Given the description of an element on the screen output the (x, y) to click on. 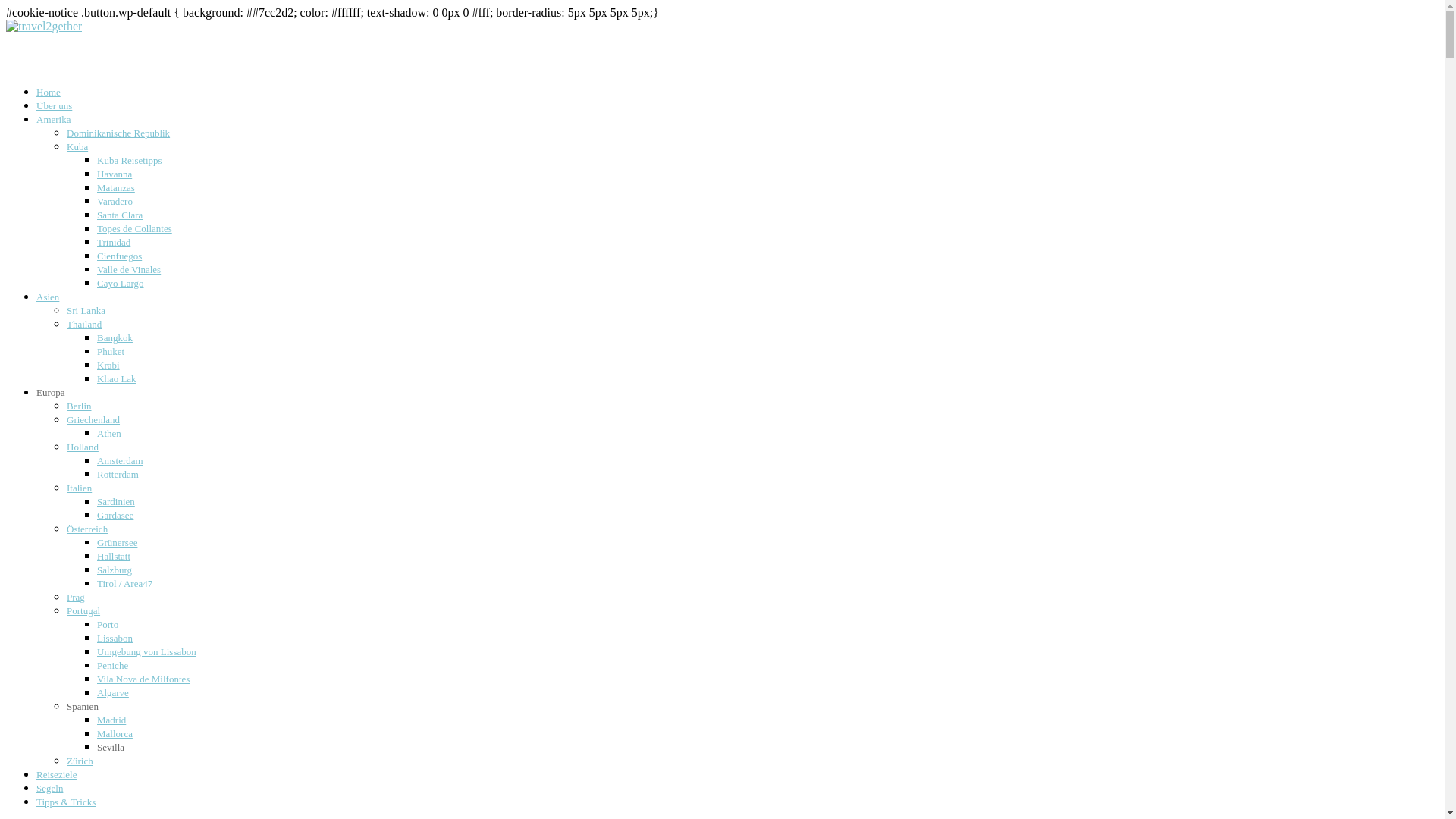
Matanzas Element type: text (115, 187)
Peniche Element type: text (112, 665)
Porto Element type: text (107, 624)
Salzburg Element type: text (114, 569)
Thailand Element type: text (83, 323)
Hallstatt Element type: text (113, 555)
Kuba Element type: text (76, 146)
Griechenland Element type: text (92, 419)
Vila Nova de Milfontes Element type: text (143, 678)
Rotterdam Element type: text (117, 474)
Phuket Element type: text (110, 351)
Trinidad Element type: text (113, 241)
Spanien Element type: text (82, 706)
Gardasee Element type: text (115, 514)
Holland Element type: text (82, 446)
Algarve Element type: text (112, 692)
Berlin Element type: text (78, 405)
Madrid Element type: text (111, 719)
Mallorca Element type: text (114, 733)
Home Element type: text (48, 96)
Dominikanische Republik Element type: text (117, 132)
Amerika Element type: text (53, 123)
Valle de Vinales Element type: text (128, 269)
Italien Element type: text (78, 487)
Asien Element type: text (47, 301)
Prag Element type: text (75, 596)
Krabi Element type: text (108, 364)
Varadero Element type: text (114, 201)
Cienfuegos Element type: text (119, 255)
Reiseziele Element type: text (56, 779)
Havanna Element type: text (114, 173)
Cayo Largo Element type: text (120, 282)
Umgebung von Lissabon Element type: text (146, 651)
Tirol / Area47 Element type: text (124, 583)
Kuba Reisetipps Element type: text (129, 160)
Bangkok Element type: text (114, 337)
Athen Element type: text (109, 433)
Europa Element type: text (50, 396)
Santa Clara Element type: text (119, 214)
Portugal Element type: text (83, 610)
Lissabon Element type: text (114, 637)
Sri Lanka Element type: text (85, 310)
Topes de Collantes Element type: text (134, 228)
Sevilla Element type: text (110, 747)
Khao Lak Element type: text (116, 378)
Tipps & Tricks Element type: text (65, 806)
Amsterdam Element type: text (120, 460)
Sardinien Element type: text (115, 501)
Segeln Element type: text (49, 792)
